Given the description of an element on the screen output the (x, y) to click on. 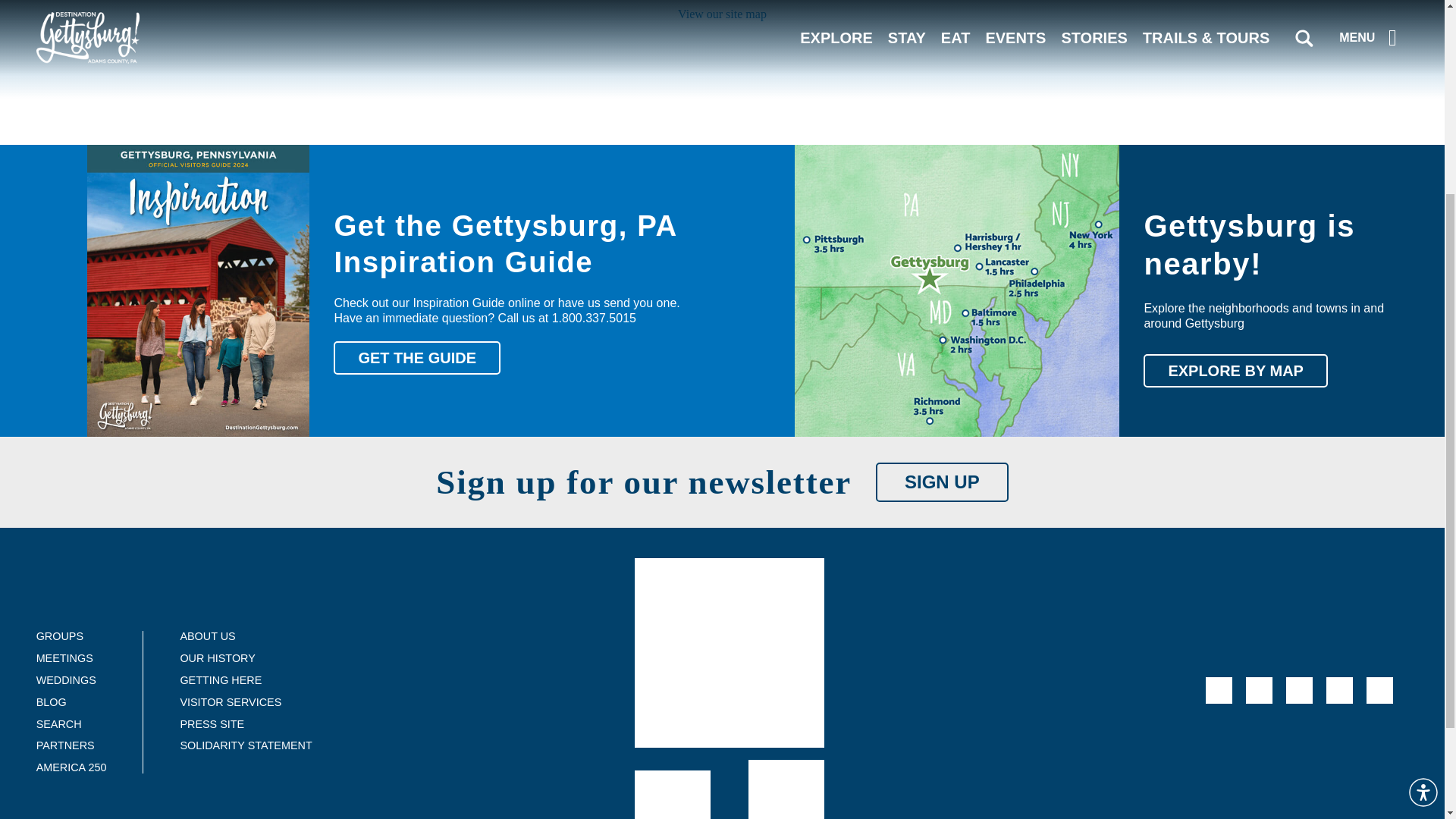
Accessibility Menu (1422, 510)
